Given the description of an element on the screen output the (x, y) to click on. 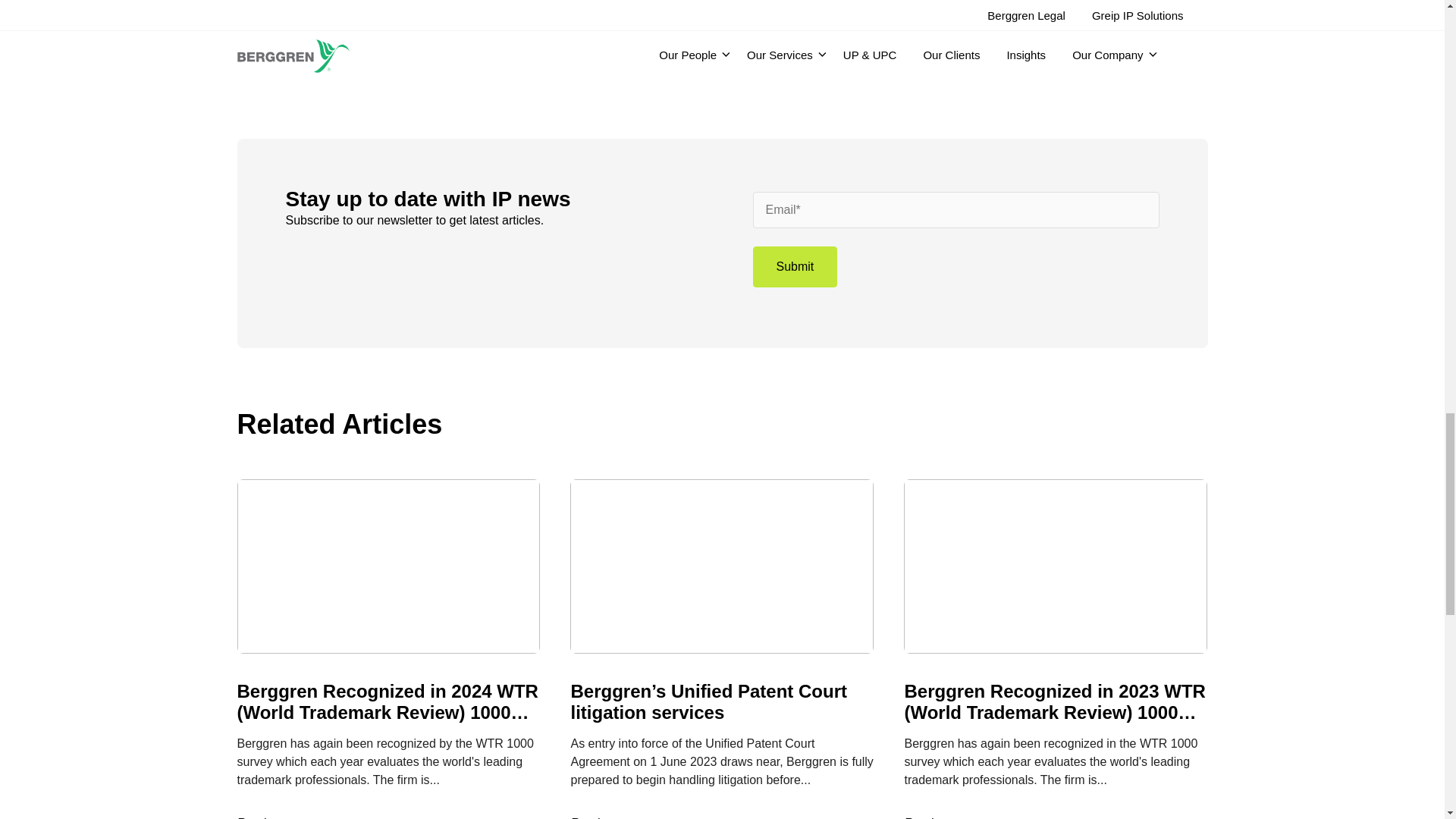
Read more (275, 816)
Submit (794, 266)
Submit (794, 266)
